Given the description of an element on the screen output the (x, y) to click on. 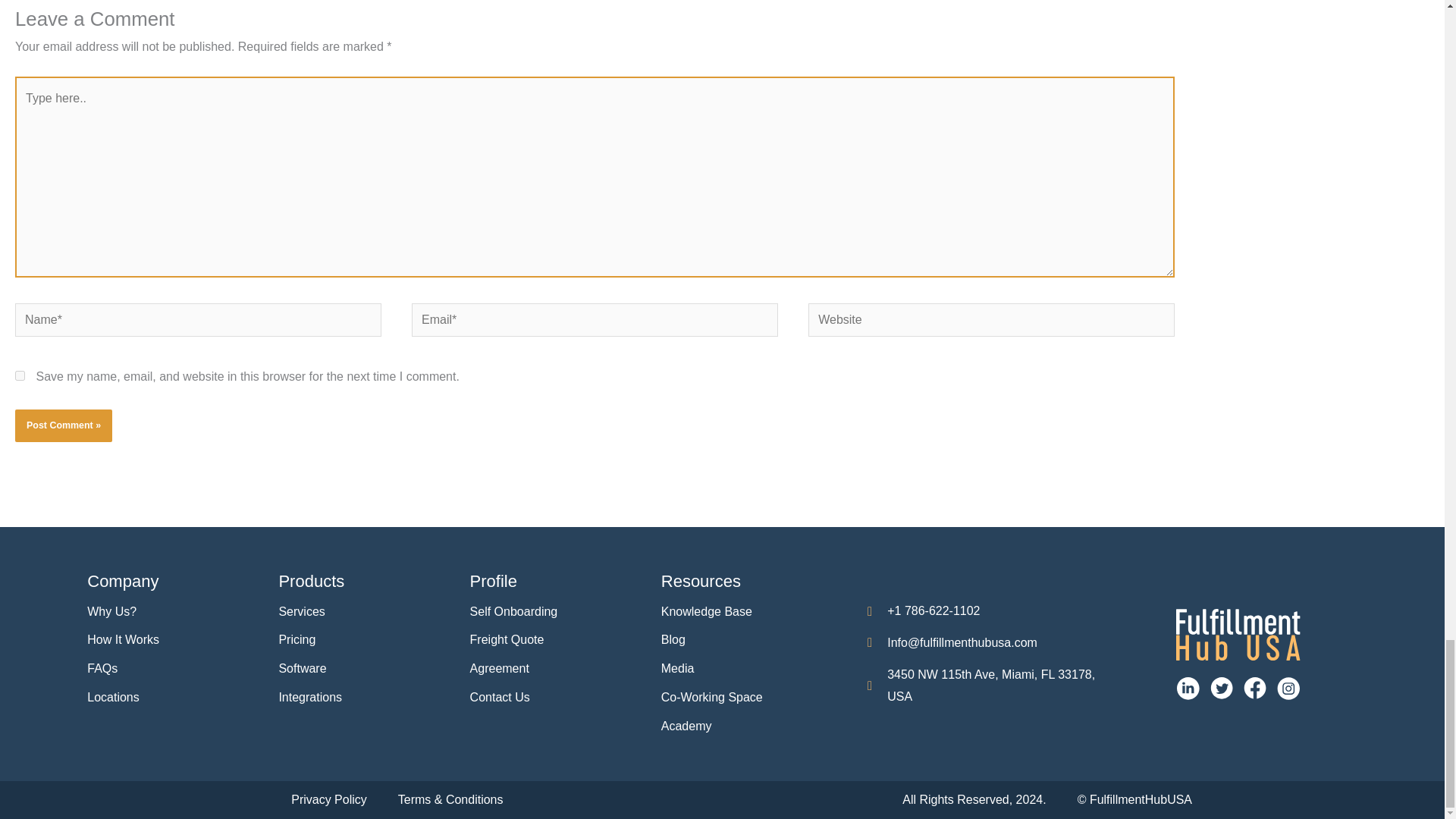
yes (19, 375)
